Given the description of an element on the screen output the (x, y) to click on. 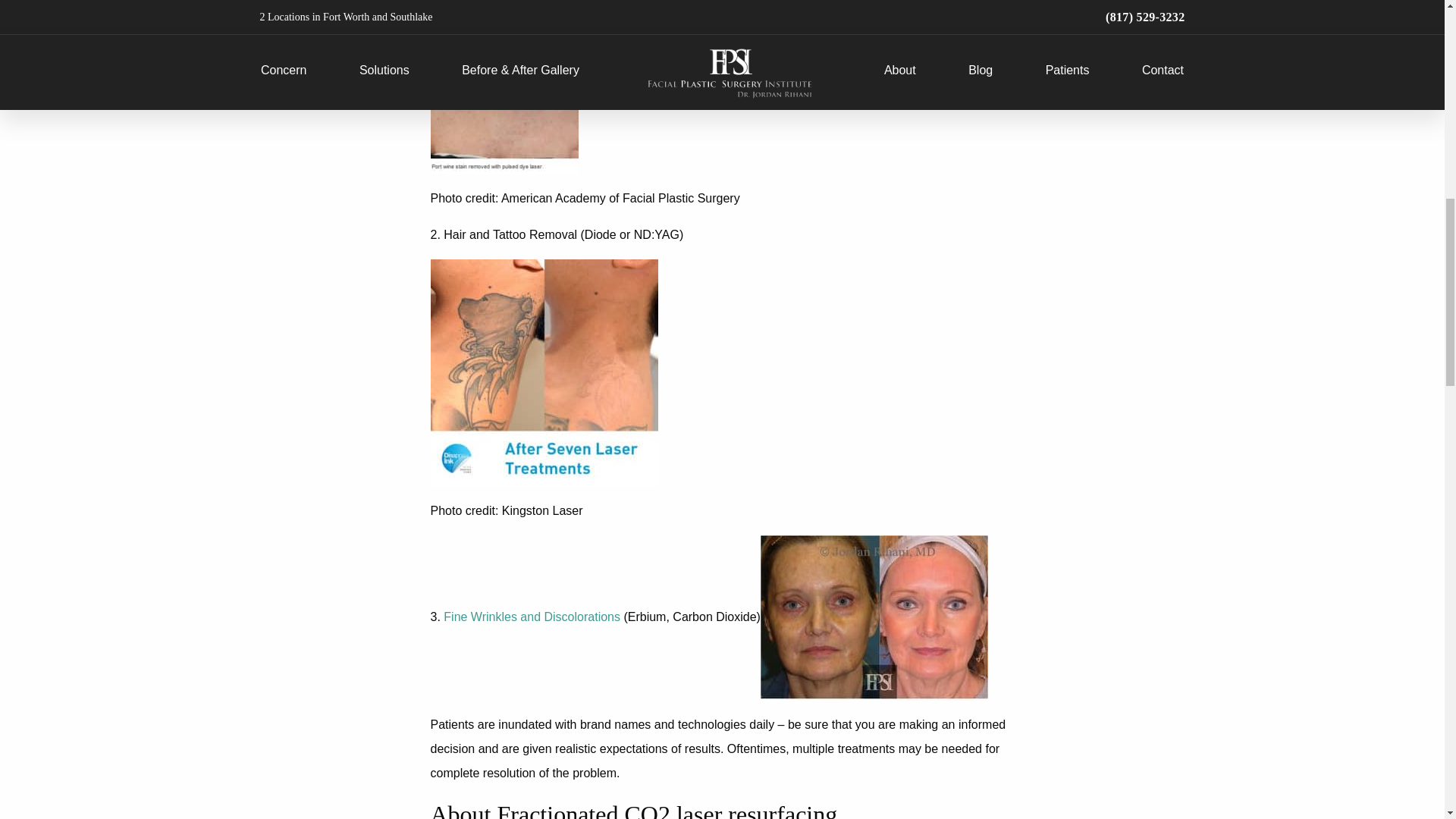
Fine Wrinkles and Discolorations (532, 616)
